Given the description of an element on the screen output the (x, y) to click on. 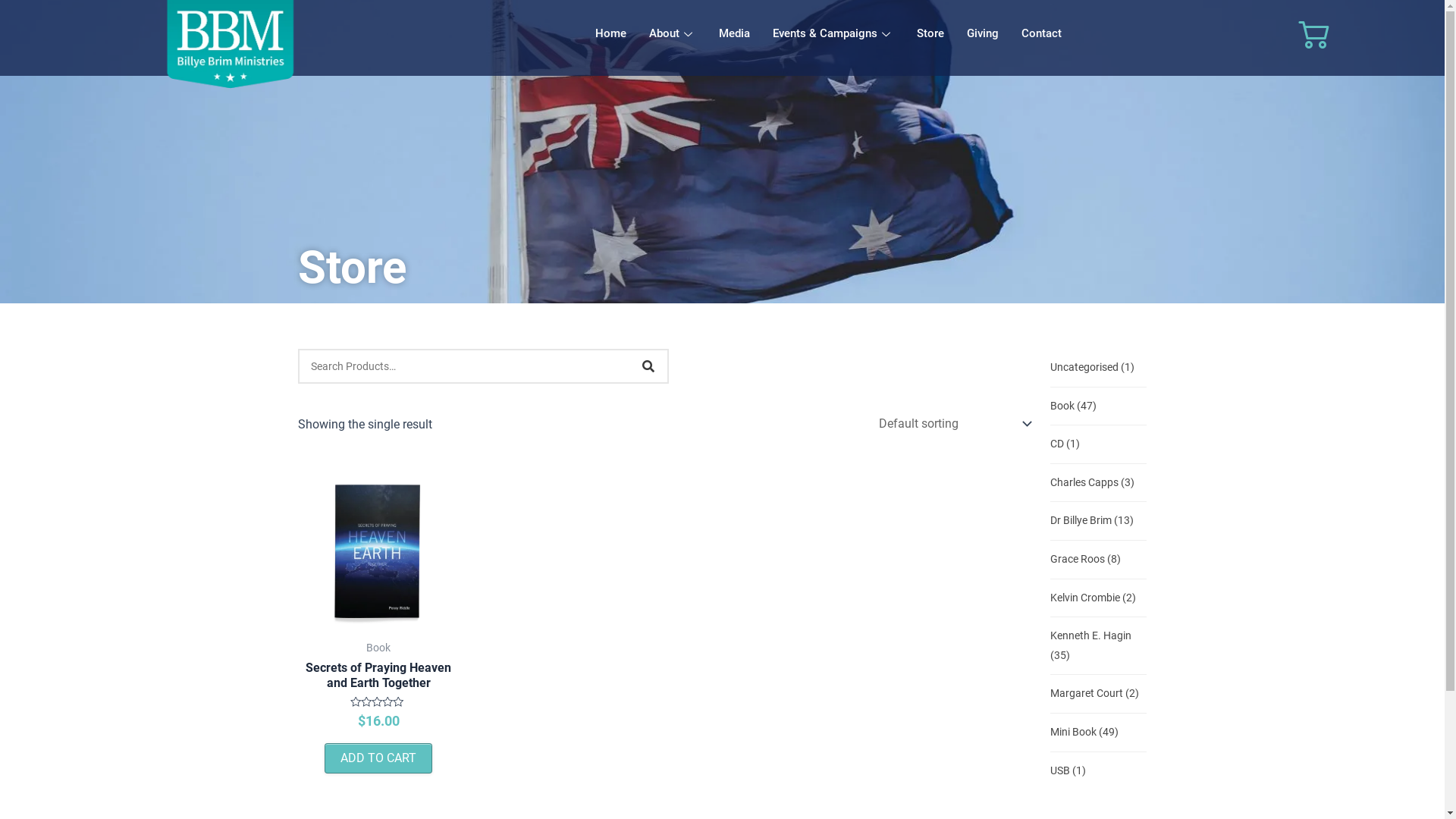
Kenneth E. Hagin (35) Element type: text (1097, 645)
Search for: Element type: hover (463, 366)
Store Element type: text (930, 34)
Contact Element type: text (1041, 34)
Secrets of Praying Heaven and Earth Together Element type: text (377, 678)
Kelvin Crombie (2) Element type: text (1092, 598)
Book (47) Element type: text (1072, 406)
Uncategorised (1) Element type: text (1091, 367)
CD (1) Element type: text (1064, 444)
ADD TO CART Element type: text (378, 758)
Mini Book (49) Element type: text (1083, 732)
Media Element type: text (734, 34)
Home Element type: text (610, 34)
Charles Capps (3) Element type: text (1091, 483)
About Element type: text (672, 34)
USB (1) Element type: text (1067, 771)
Events & Campaigns Element type: text (833, 34)
Giving Element type: text (982, 34)
Grace Roos (8) Element type: text (1084, 559)
Margaret Court (2) Element type: text (1093, 693)
Dr Billye Brim (13) Element type: text (1090, 520)
